Given the description of an element on the screen output the (x, y) to click on. 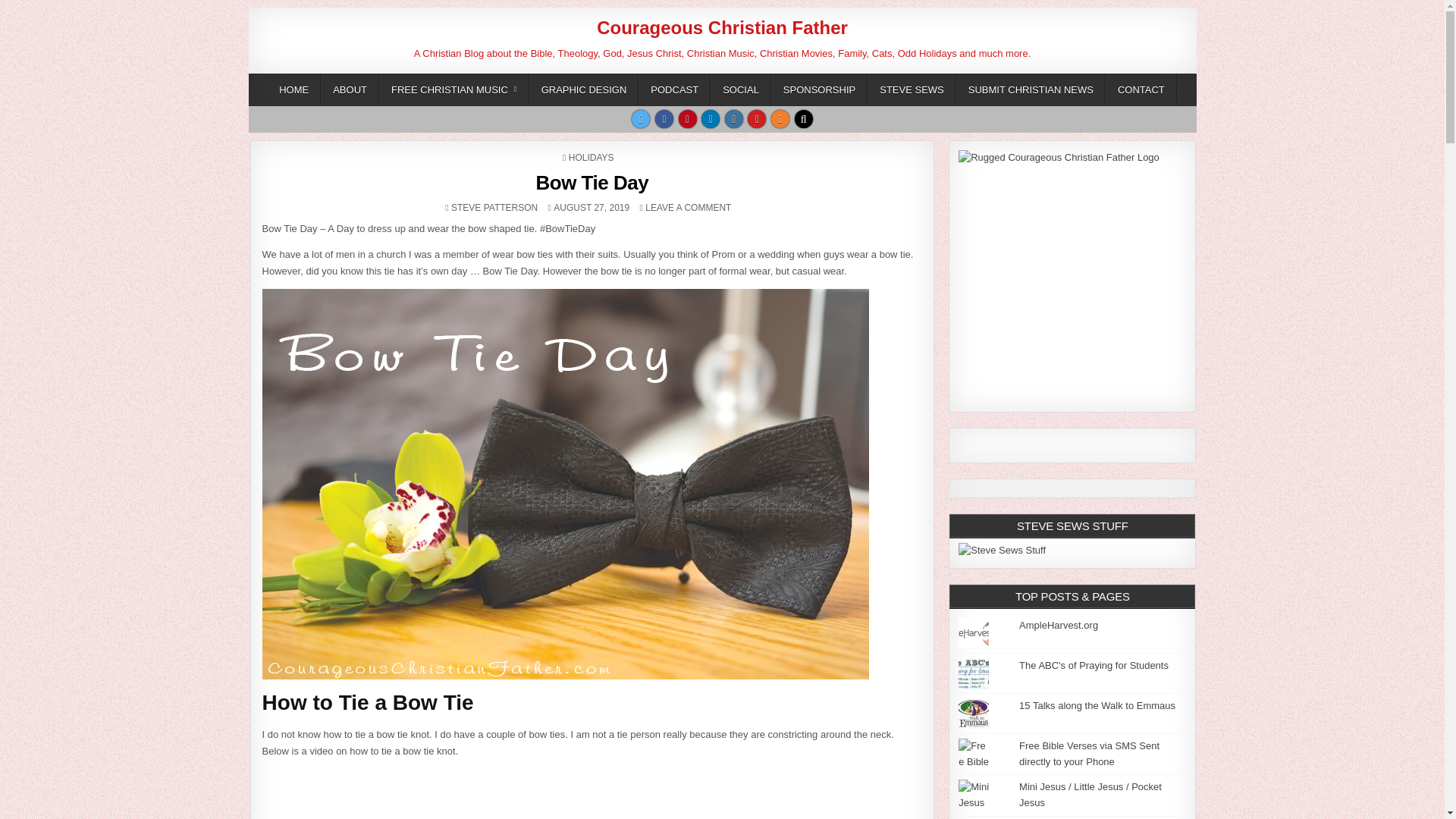
CONTACT (494, 207)
STEVE SEWS (1140, 89)
GRAPHIC DESIGN (911, 89)
Twitter (584, 89)
RSS (640, 118)
Courageous Christian Father (780, 118)
Instagram (721, 27)
FREE CHRISTIAN MUSIC (733, 118)
PODCAST (453, 89)
